Given the description of an element on the screen output the (x, y) to click on. 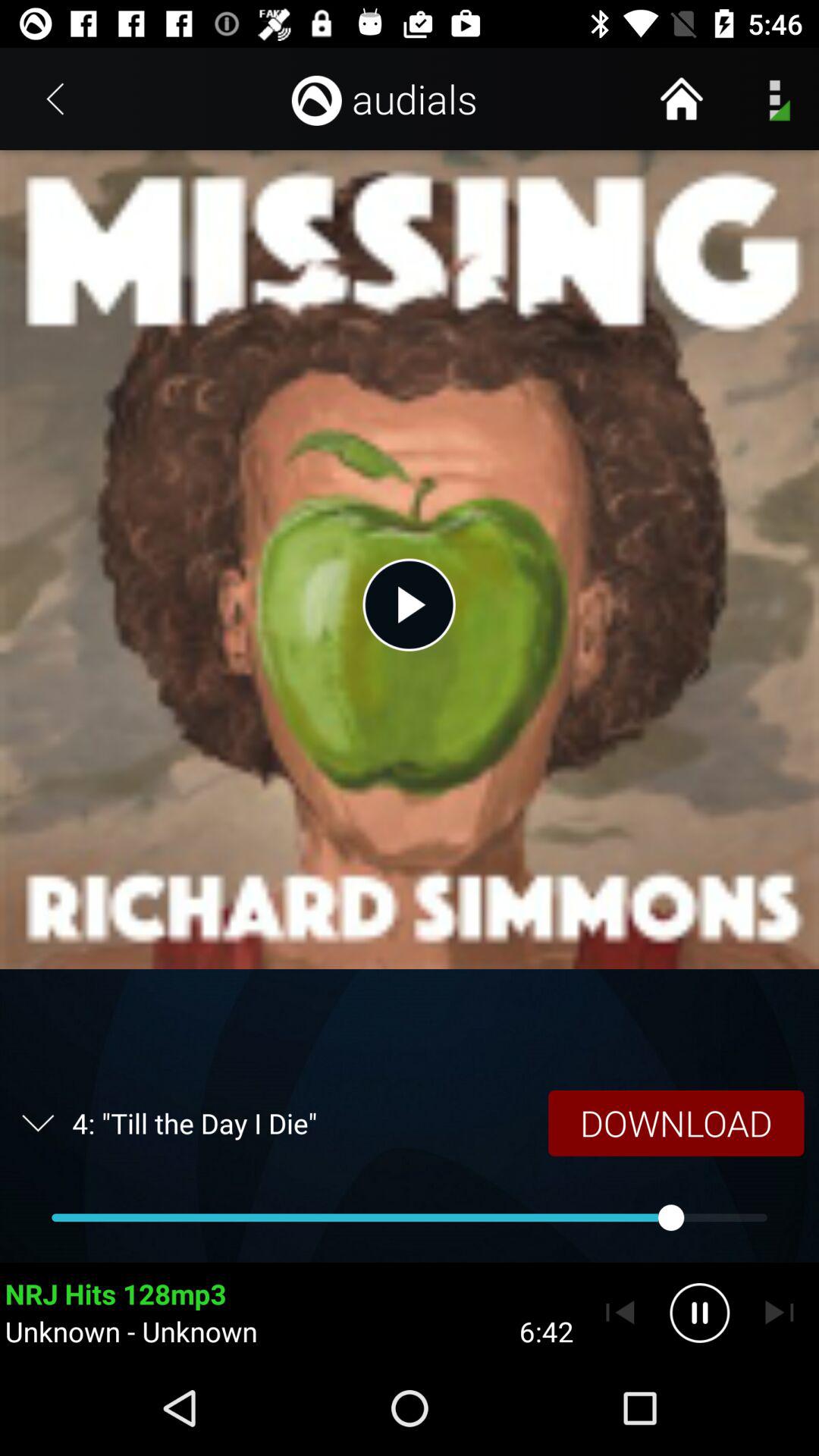
tap the item below the audials icon (408, 604)
